Given the description of an element on the screen output the (x, y) to click on. 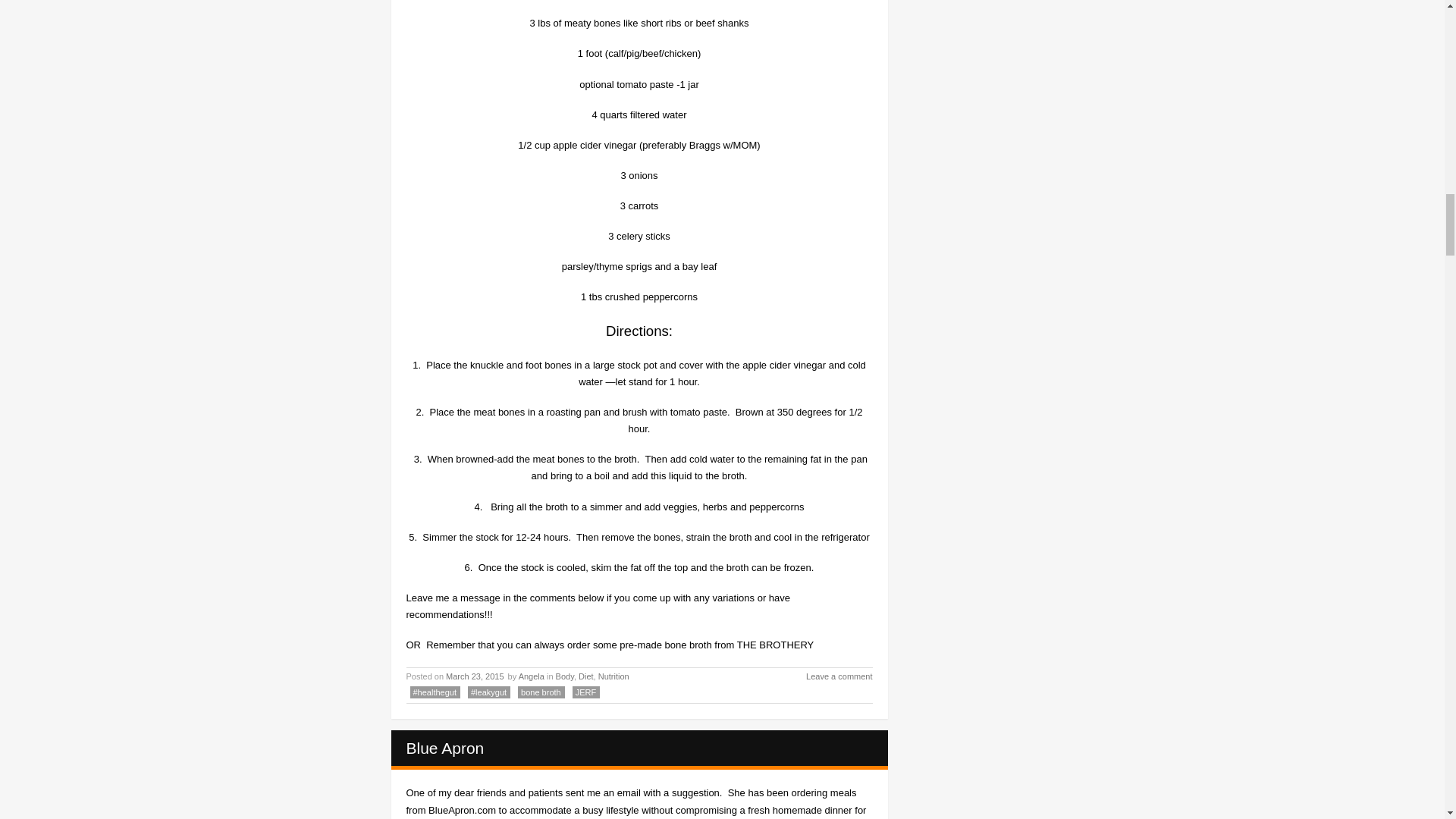
March 23, 2015 (475, 675)
Read Blue Apron (445, 747)
THE BROTHERY (774, 644)
8:35 pm (475, 675)
View all posts by Angela (531, 675)
